Given the description of an element on the screen output the (x, y) to click on. 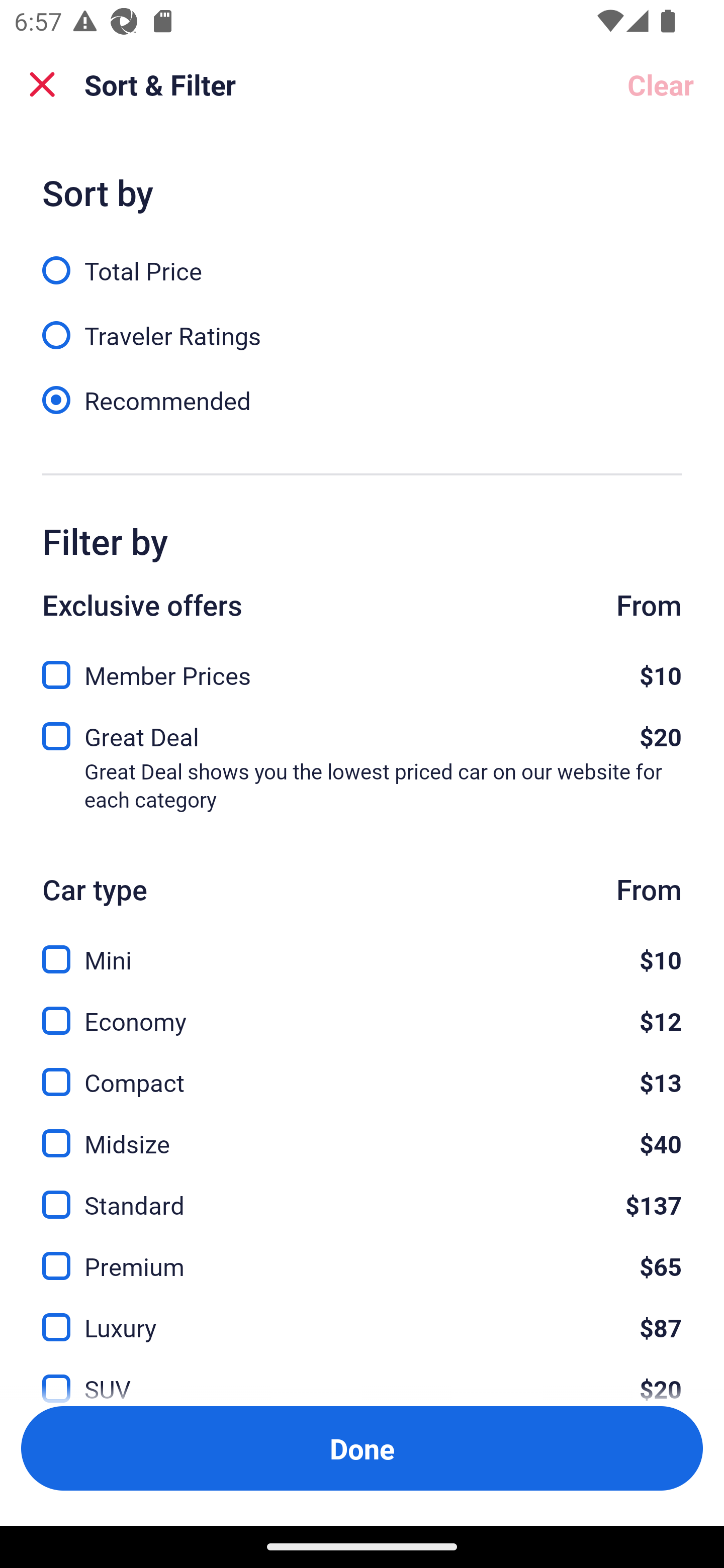
Close Sort and Filter (42, 84)
Clear (660, 84)
Total Price (361, 259)
Traveler Ratings (361, 324)
Member Prices, $10 Member Prices $10 (361, 669)
Mini, $10 Mini $10 (361, 947)
Economy, $12 Economy $12 (361, 1008)
Compact, $13 Compact $13 (361, 1070)
Midsize, $40 Midsize $40 (361, 1132)
Standard, $137 Standard $137 (361, 1193)
Premium, $65 Premium $65 (361, 1254)
Luxury, $87 Luxury $87 (361, 1315)
SUV, $20 SUV $20 (361, 1376)
Apply and close Sort and Filter Done (361, 1448)
